Given the description of an element on the screen output the (x, y) to click on. 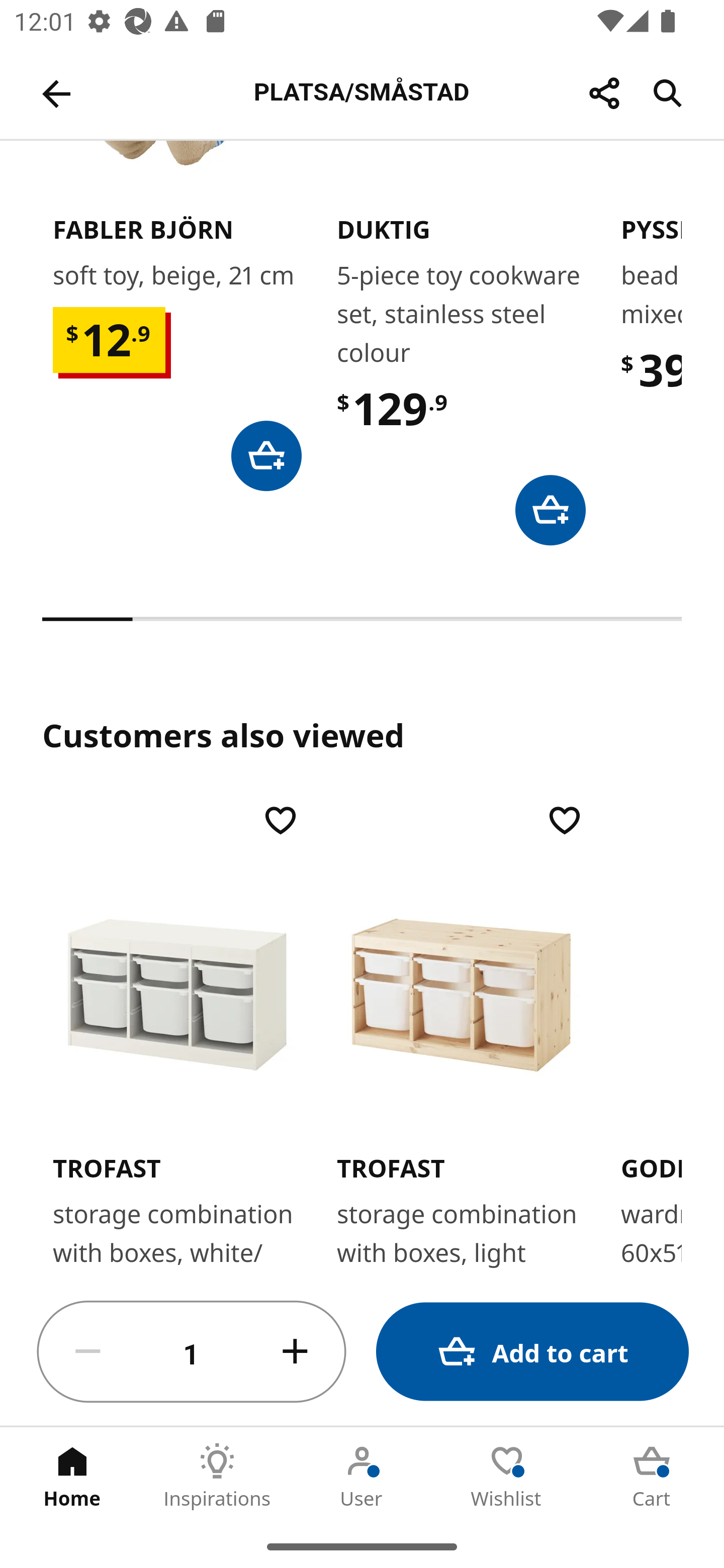
Add to cart (531, 1352)
1 (191, 1352)
Home
Tab 1 of 5 (72, 1476)
Inspirations
Tab 2 of 5 (216, 1476)
User
Tab 3 of 5 (361, 1476)
Wishlist
Tab 4 of 5 (506, 1476)
Cart
Tab 5 of 5 (651, 1476)
